Given the description of an element on the screen output the (x, y) to click on. 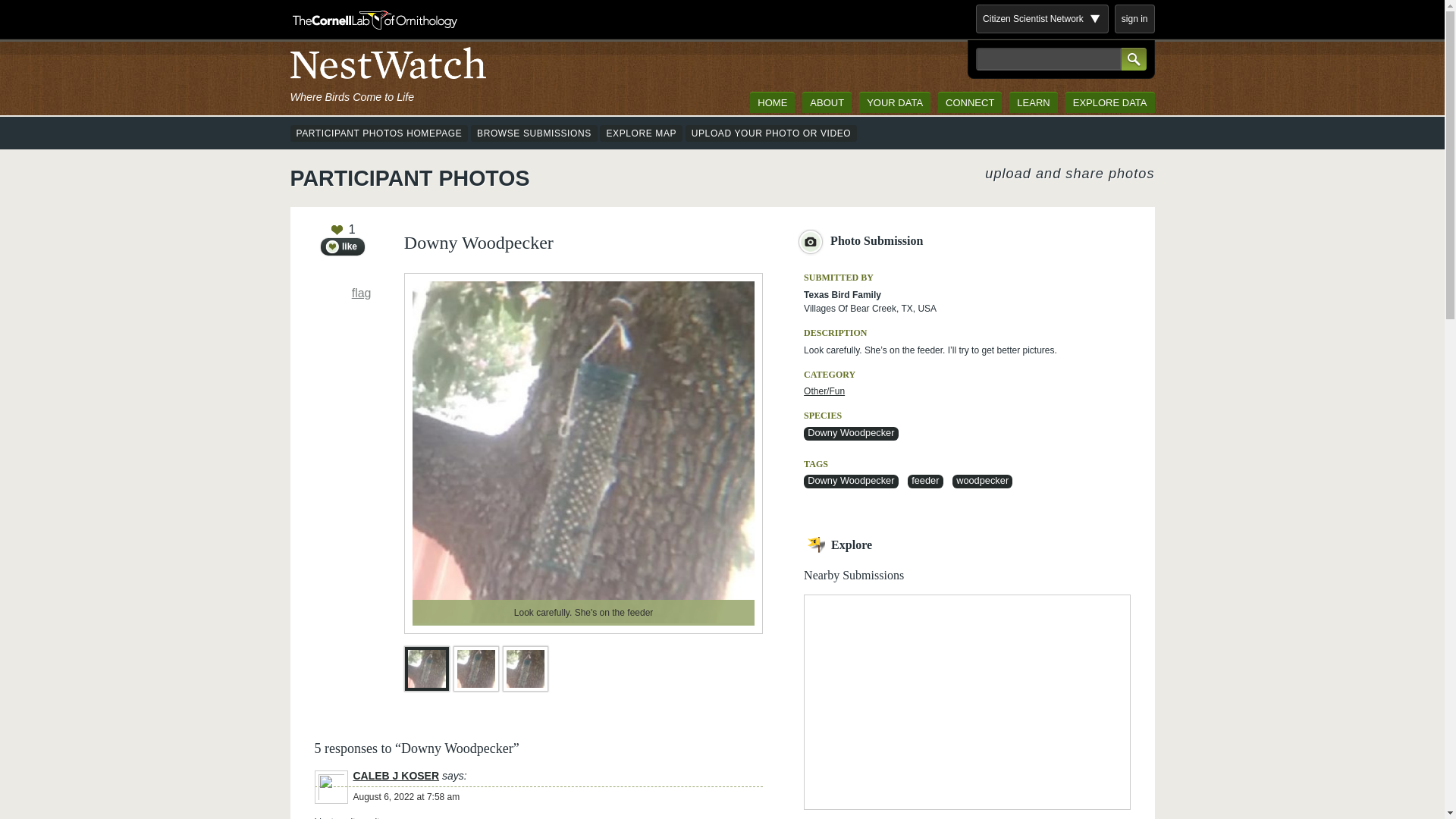
LEARN (1033, 102)
Look carefully. She's on the feeder (426, 669)
Look carefully. She's on the feeder (475, 669)
ABOUT (826, 102)
NestWatch (386, 66)
HOME (771, 102)
CONNECT (969, 102)
YOUR DATA (894, 102)
She and a male came yesterday. (525, 669)
